Given the description of an element on the screen output the (x, y) to click on. 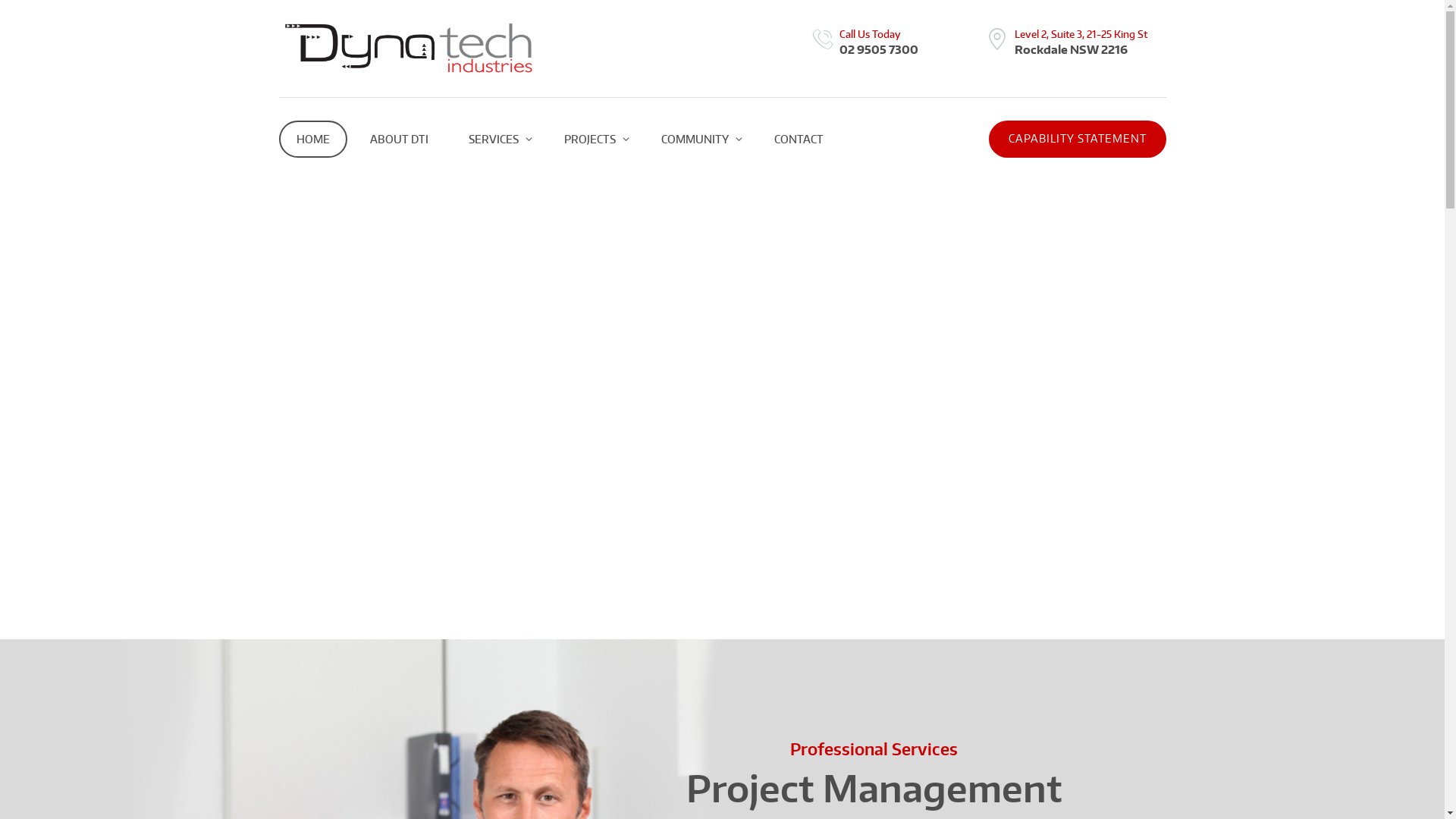
SERVICES Element type: text (495, 138)
ABOUT DTI Element type: text (398, 138)
COMMUNITY Element type: text (696, 138)
CONTACT Element type: text (798, 138)
HOME Element type: text (313, 138)
02 9505 7300 Element type: text (878, 48)
CAPABILITY STATEMENT Element type: text (1077, 138)
PROJECTS Element type: text (591, 138)
